Given the description of an element on the screen output the (x, y) to click on. 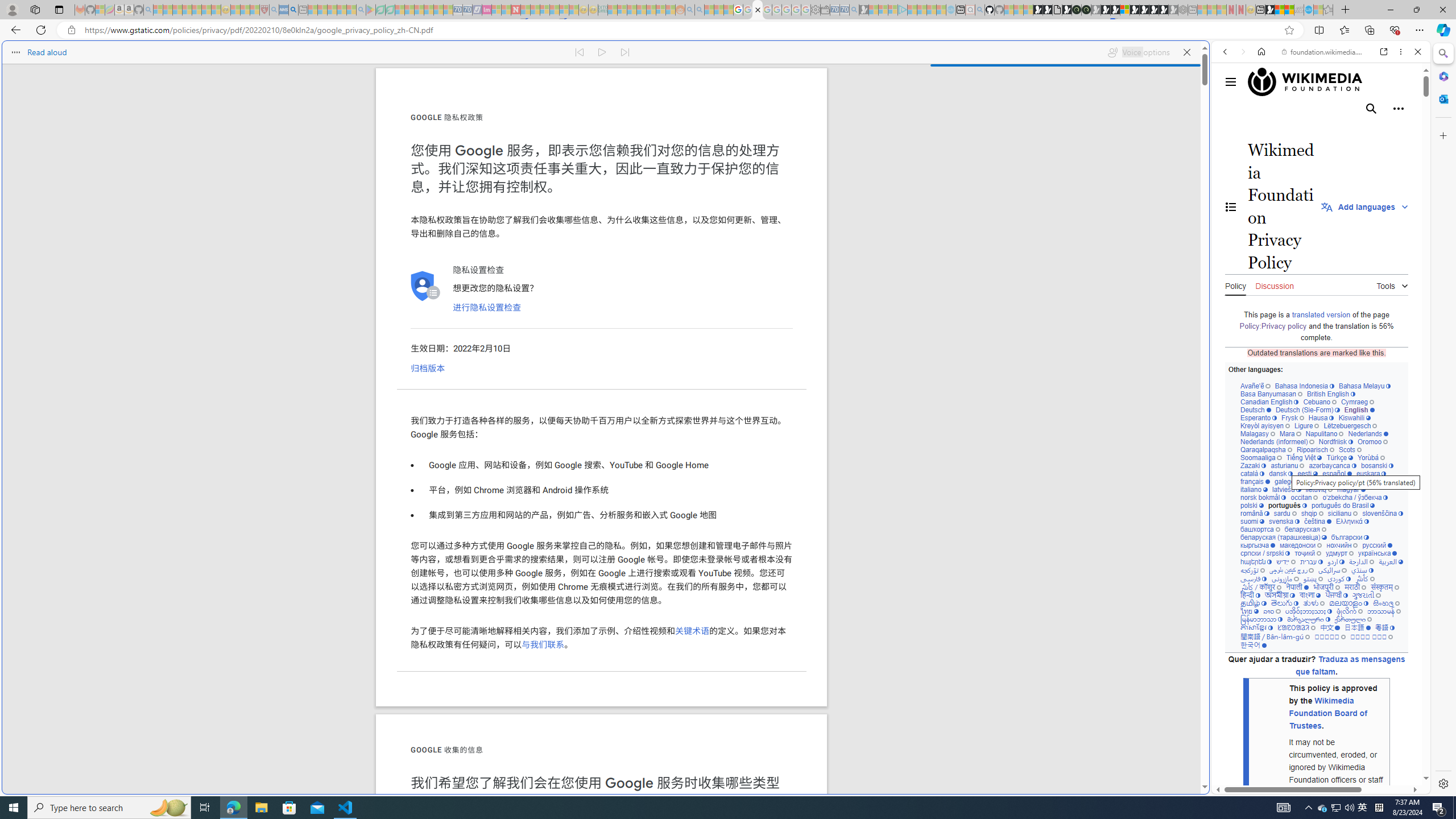
Tabs you've opened (885, 151)
Kinda Frugal - MSN - Sleeping (651, 9)
Nordfriisk (1334, 441)
DITOGAMES AG Imprint - Sleeping (602, 9)
Home | Sky Blue Bikes - Sky Blue Bikes (1118, 242)
Favorites - Sleeping (1327, 9)
Side bar (1443, 418)
